Given the description of an element on the screen output the (x, y) to click on. 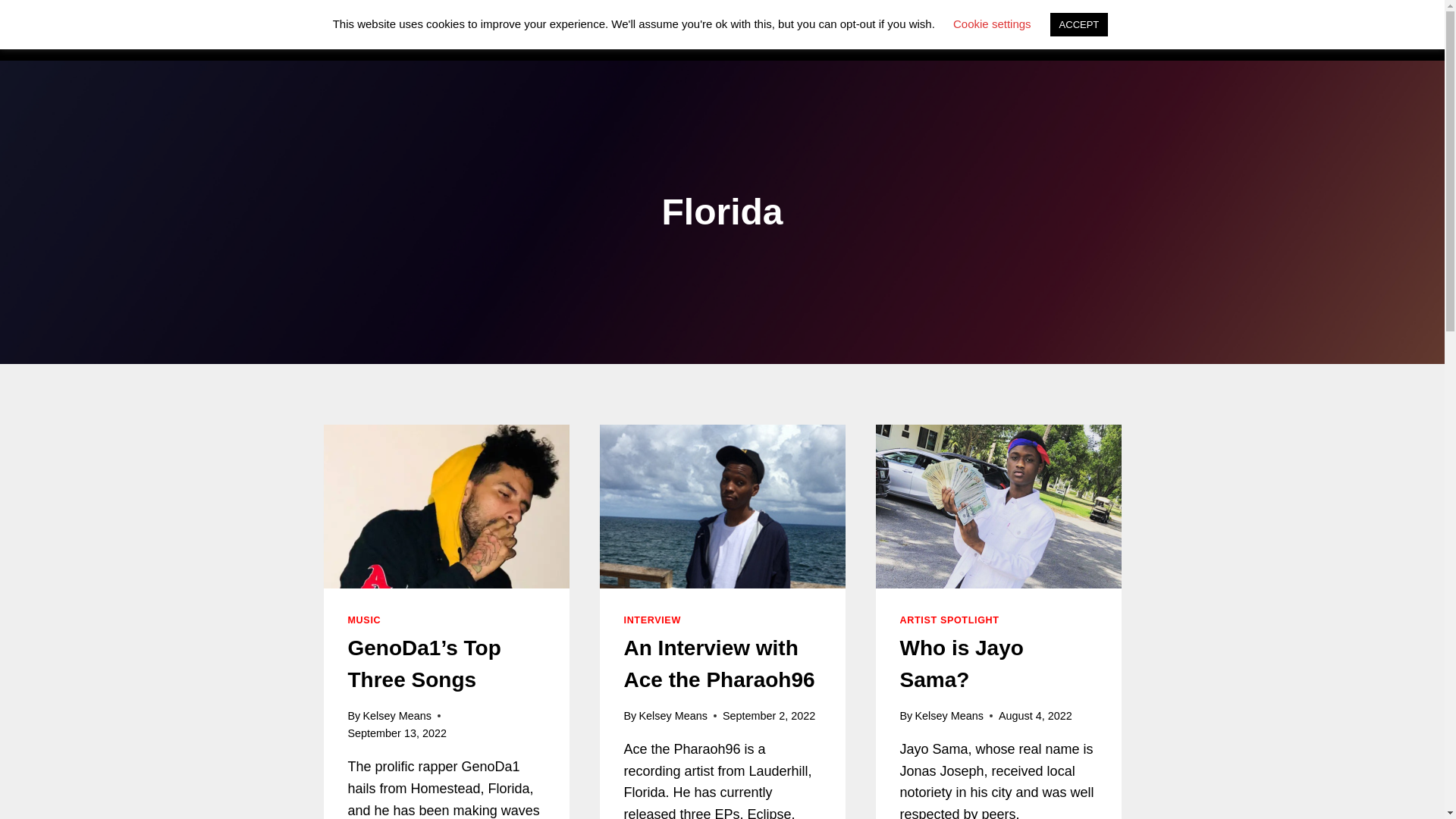
ARTIST SPOTLIGHT (948, 620)
An Interview with Ace the Pharaoh96 (718, 663)
Kelsey Means (672, 715)
Pricing (803, 30)
MUSIC (363, 620)
Kelsey Means (948, 715)
Services (659, 30)
INTERVIEW (651, 620)
About (938, 30)
Kelsey Means (396, 715)
